Given the description of an element on the screen output the (x, y) to click on. 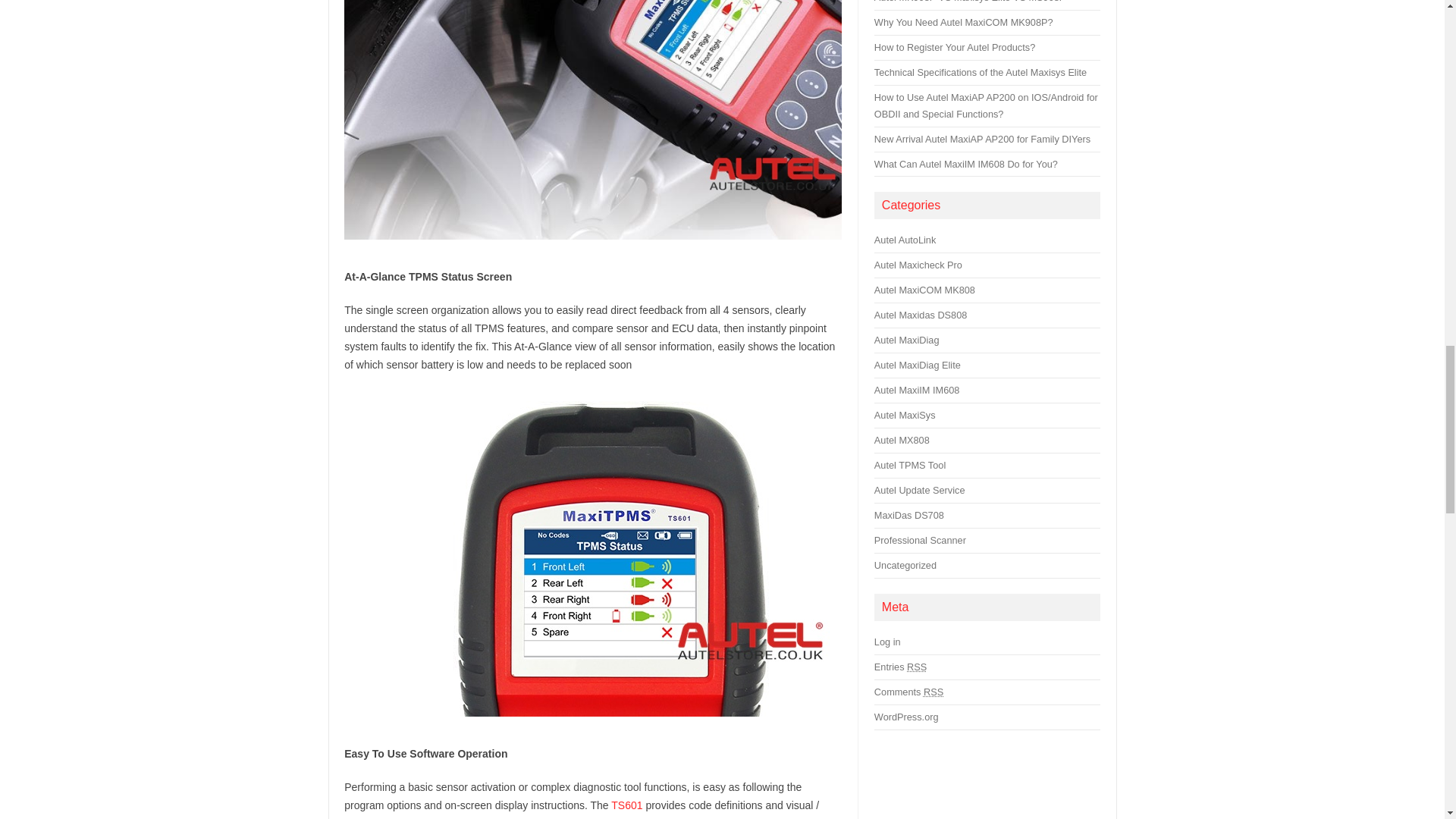
Really Simple Syndication (916, 666)
Really Simple Syndication (933, 691)
TS601 (626, 805)
